Given the description of an element on the screen output the (x, y) to click on. 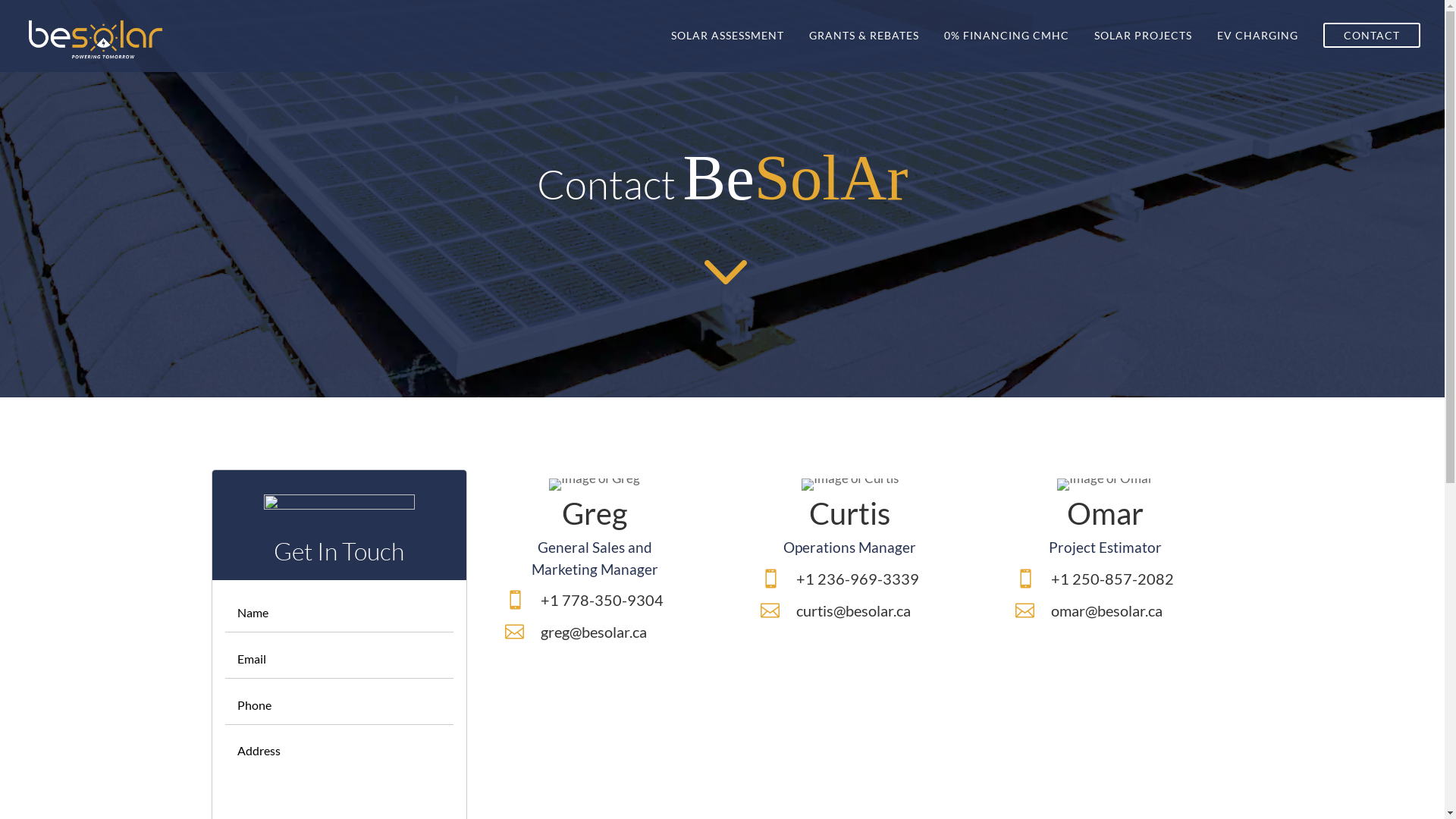
+1 778-350-9304 Element type: text (601, 599)
SOLAR ASSESSMENT Element type: text (727, 50)
omar Element type: hover (1105, 484)
omar@besolar.ca Element type: text (1106, 610)
CONTACT Element type: text (1371, 50)
Curtis-Photo Element type: hover (849, 484)
greg@besolar.ca Element type: text (593, 631)
1-Greg-Work-Photo Element type: hover (594, 484)
+1 250-857-2082 Element type: text (1112, 578)
SOLAR PROJECTS Element type: text (1143, 50)
+1 236-969-3339 Element type: text (857, 578)
GRANTS & REBATES Element type: text (864, 50)
Only letters allowed.Maximum length: 30 characters. Element type: hover (339, 612)
0% FINANCING CMHC Element type: text (1006, 50)
EV CHARGING Element type: text (1257, 50)
curtis@besolar.ca Element type: text (853, 610)
